Given the description of an element on the screen output the (x, y) to click on. 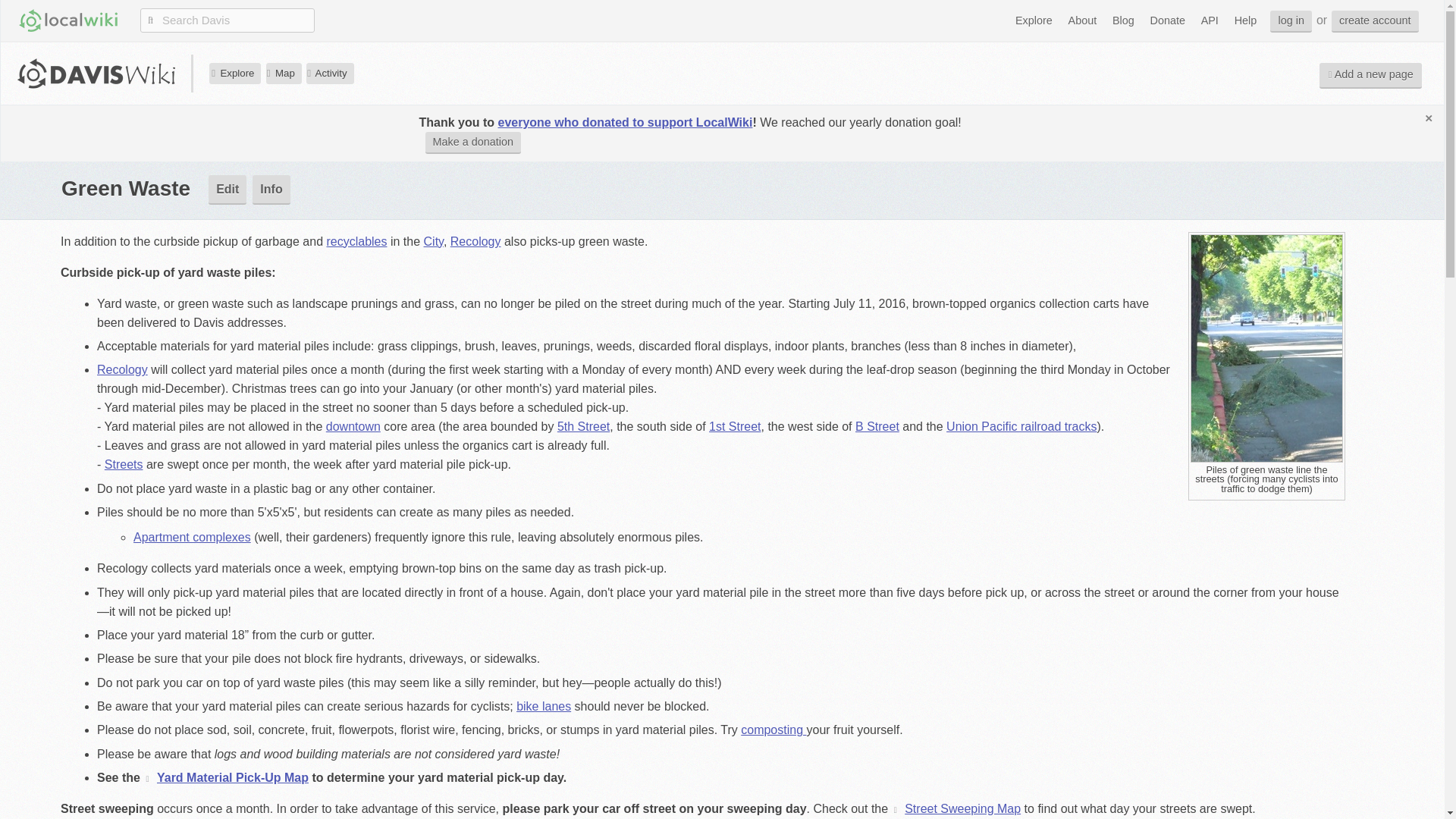
Streets (123, 463)
bike lanes (543, 706)
About (1082, 20)
create account (1375, 21)
Recology (122, 369)
Donate (1167, 20)
Blog (1123, 20)
Activity (329, 73)
1st Street (734, 426)
Info (270, 189)
